Given the description of an element on the screen output the (x, y) to click on. 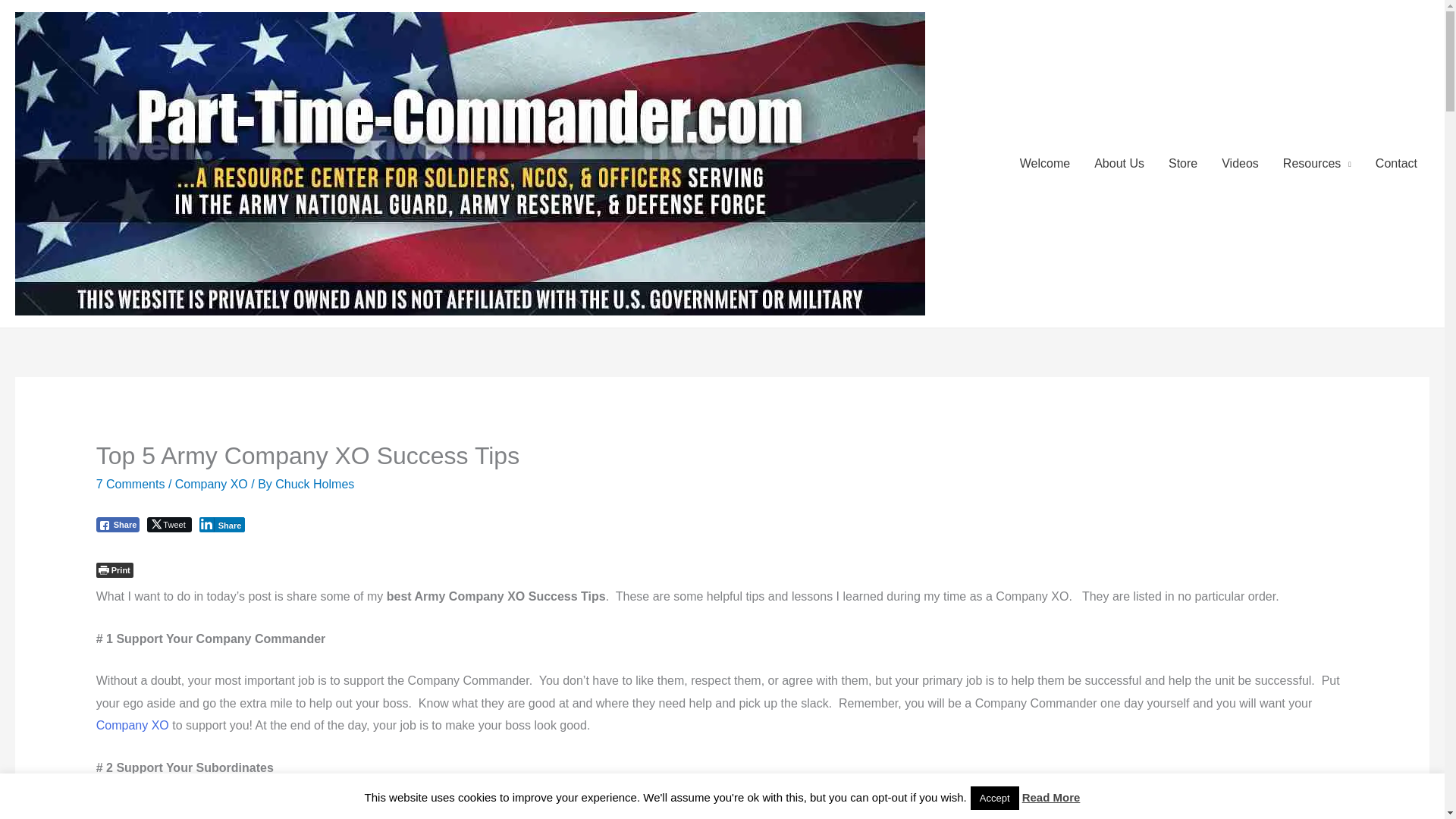
Share (117, 524)
Chuck Holmes (314, 483)
Share (222, 524)
Company XO (210, 483)
Company XO Course (132, 725)
7 Comments (130, 483)
Company XO (132, 725)
Print (114, 570)
View all posts by Chuck Holmes (314, 483)
Tweet (168, 524)
